Given the description of an element on the screen output the (x, y) to click on. 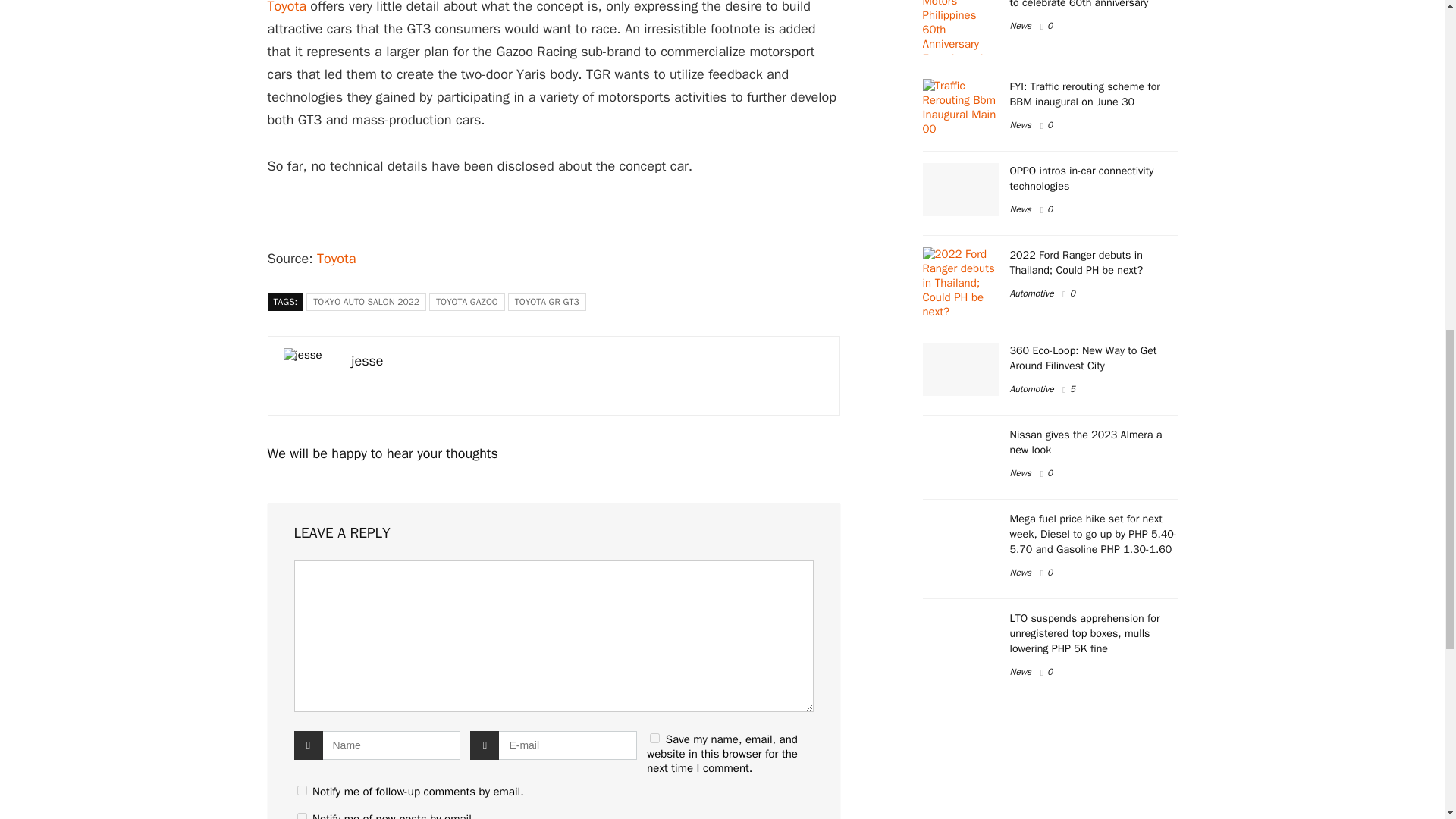
subscribe (302, 790)
subscribe (302, 816)
Toyota (285, 7)
jesse (368, 360)
TOYOTA GAZOO (467, 302)
TOYOTA GR GT3 (547, 302)
Toyota (336, 258)
TOKYO AUTO SALON 2022 (365, 302)
yes (654, 737)
